Given the description of an element on the screen output the (x, y) to click on. 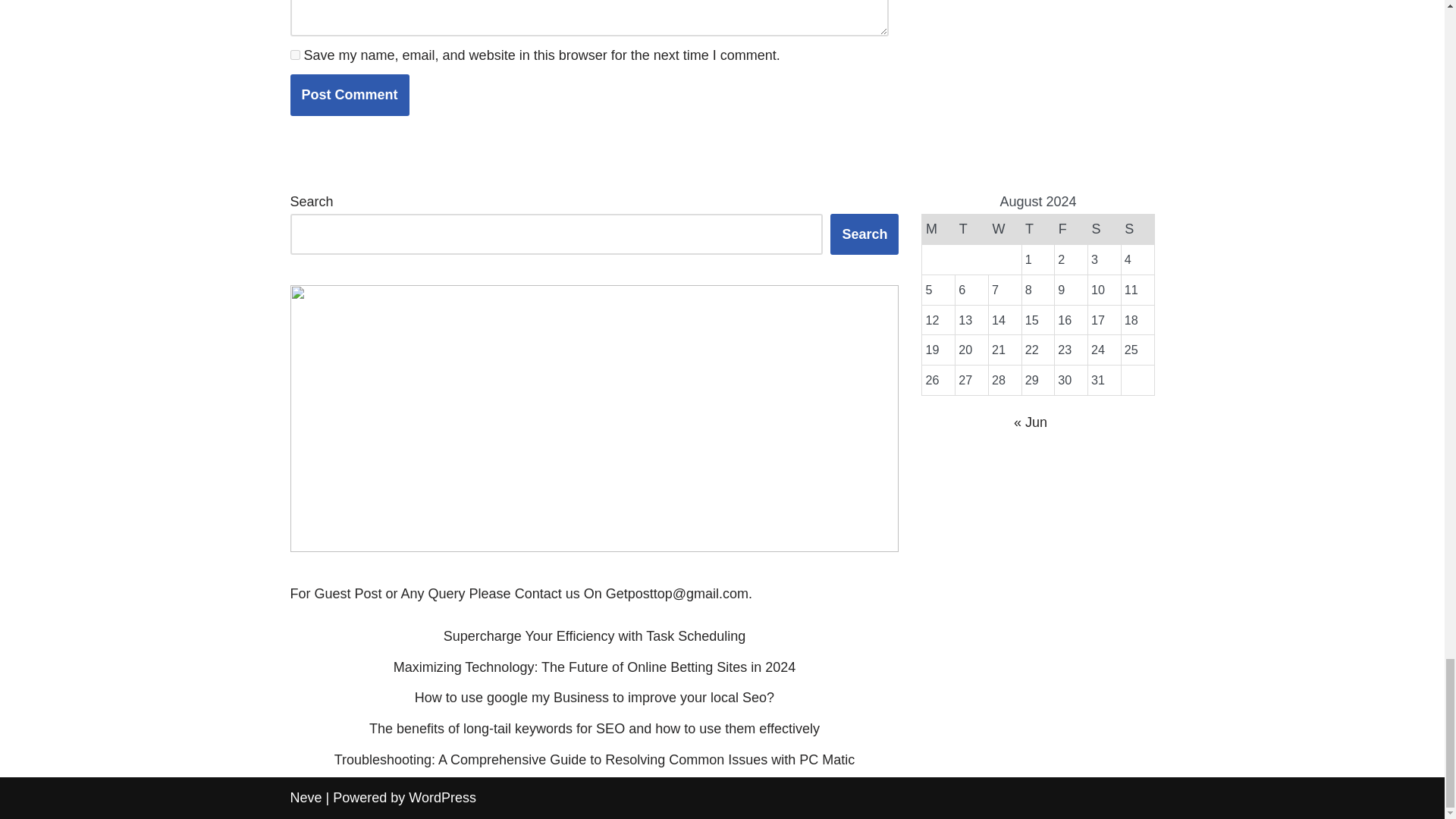
Monday (938, 228)
Post Comment (349, 95)
yes (294, 54)
